Given the description of an element on the screen output the (x, y) to click on. 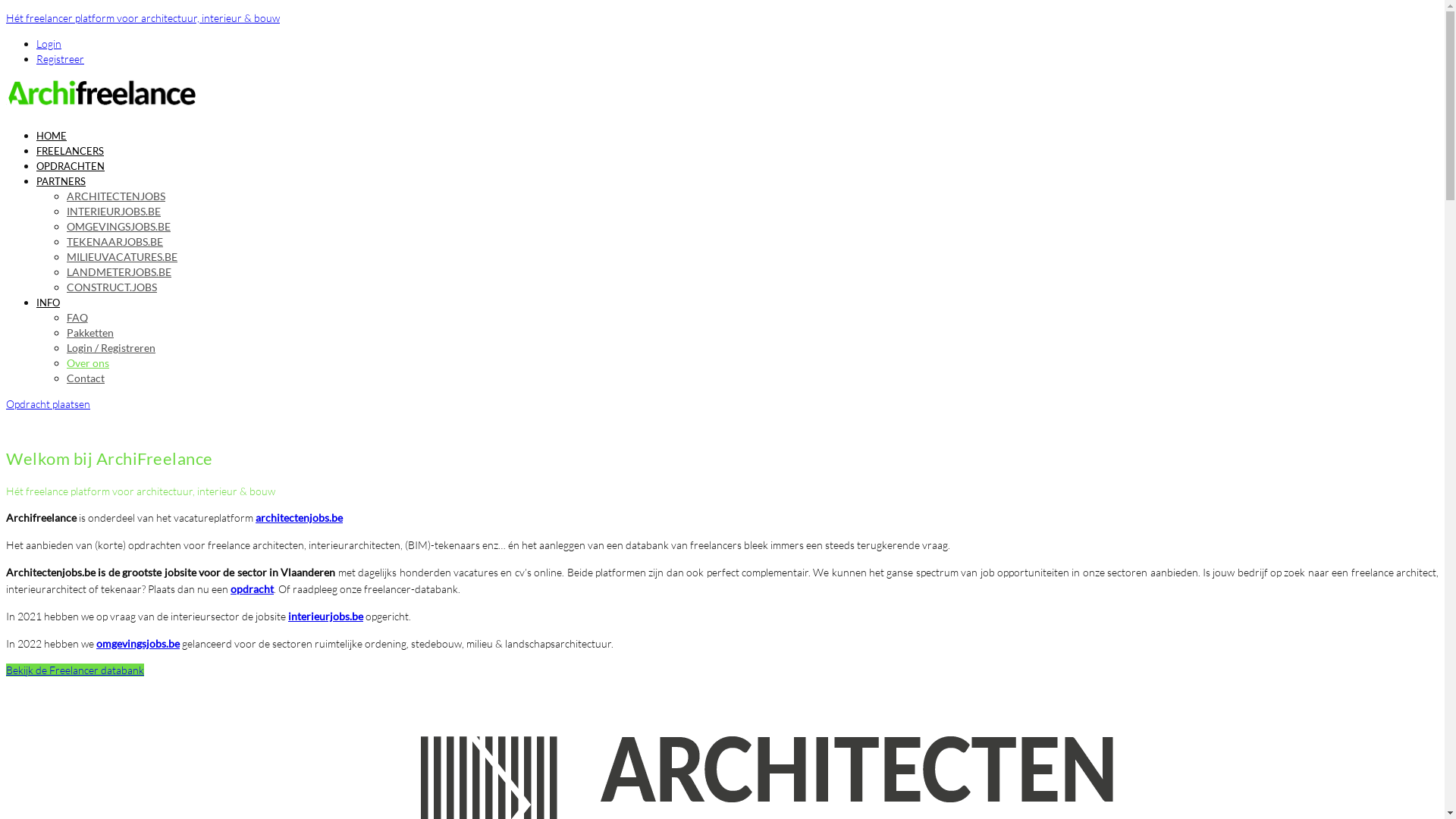
HOME Element type: text (51, 135)
LANDMETERJOBS.BE Element type: text (118, 271)
OPDRACHTEN Element type: text (70, 166)
architectenjobs.be Element type: text (298, 517)
INTERIEURJOBS.BE Element type: text (113, 210)
Login / Registreren Element type: text (110, 347)
TEKENAARJOBS.BE Element type: text (114, 241)
Bekijk de Freelancer databank Element type: text (75, 669)
Contact Element type: text (85, 377)
PARTNERS Element type: text (60, 181)
interieurjobs.be Element type: text (325, 615)
opdracht Element type: text (251, 588)
MILIEUVACATURES.BE Element type: text (121, 256)
Opdracht plaatsen Element type: text (48, 403)
Login Element type: text (48, 43)
Pakketten Element type: text (89, 332)
OMGEVINGSJOBS.BE Element type: text (118, 225)
Registreer Element type: text (60, 58)
omgevingsjobs.be Element type: text (137, 643)
FREELANCERS Element type: text (69, 150)
INFO Element type: text (47, 302)
ARCHITECTENJOBS Element type: text (115, 195)
archifreelance Element type: hover (100, 109)
Over ons Element type: text (87, 362)
CONSTRUCT.JOBS Element type: text (111, 286)
FAQ Element type: text (76, 316)
